Given the description of an element on the screen output the (x, y) to click on. 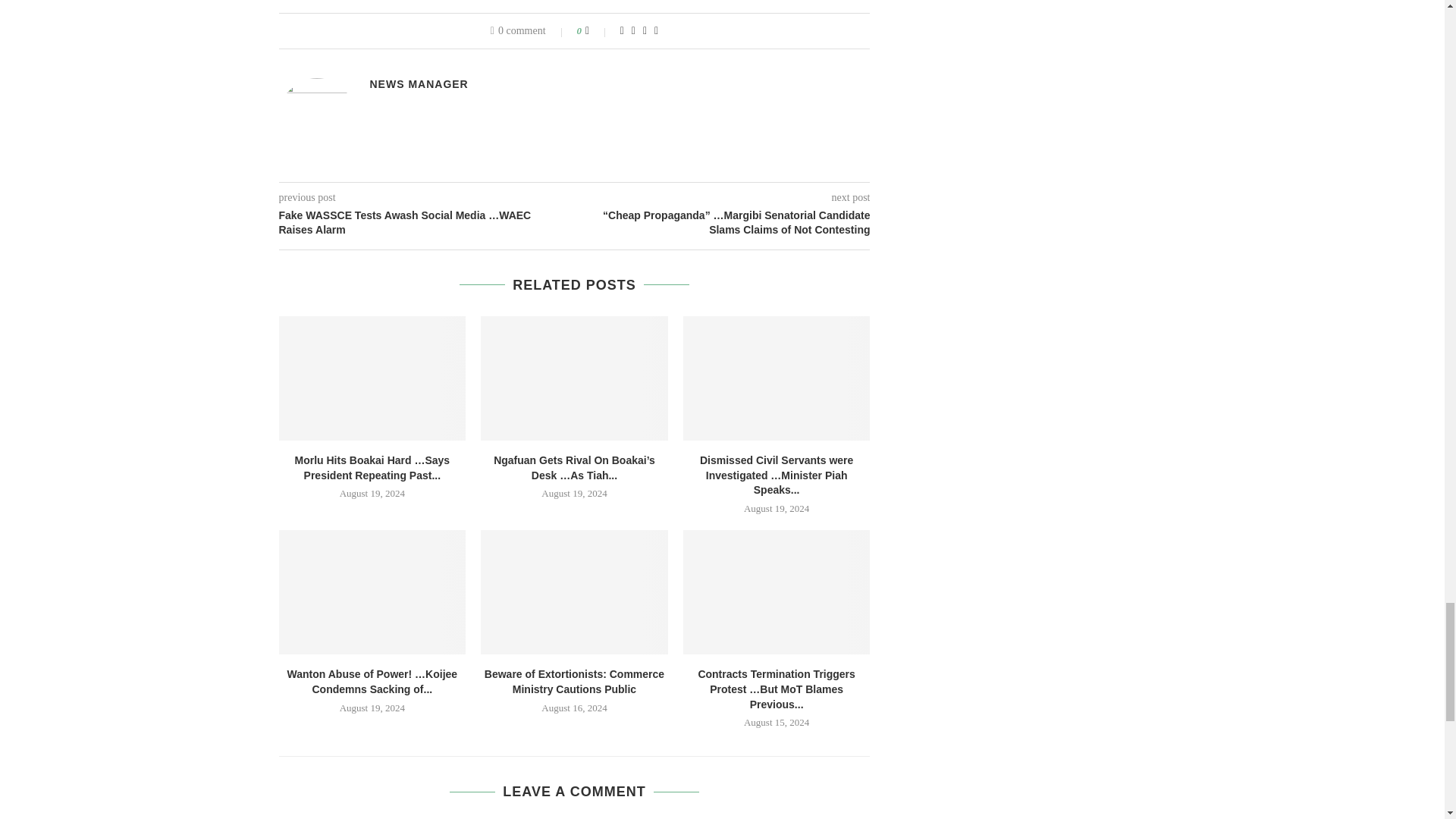
Beware of Extortionists: Commerce Ministry Cautions Public (574, 591)
Like (597, 30)
Posts by News Manager (418, 83)
